Given the description of an element on the screen output the (x, y) to click on. 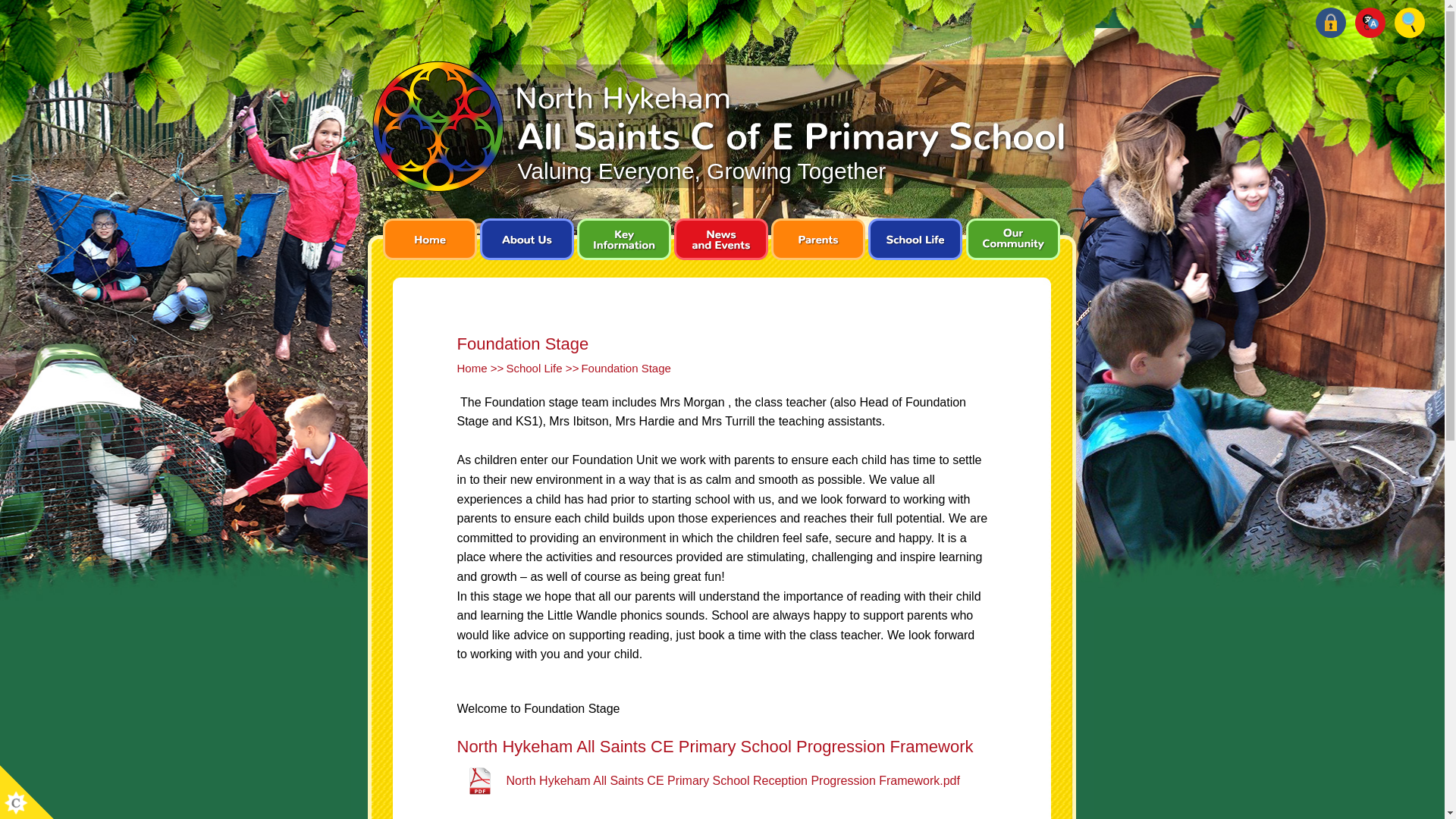
Key Information (622, 243)
Home Page (718, 128)
Home (471, 367)
Parents (817, 243)
School Life (533, 367)
Home Page (718, 128)
About Us (526, 243)
Log in (1330, 22)
Home (428, 243)
News and Events (719, 243)
Foundation Stage (624, 367)
